Given the description of an element on the screen output the (x, y) to click on. 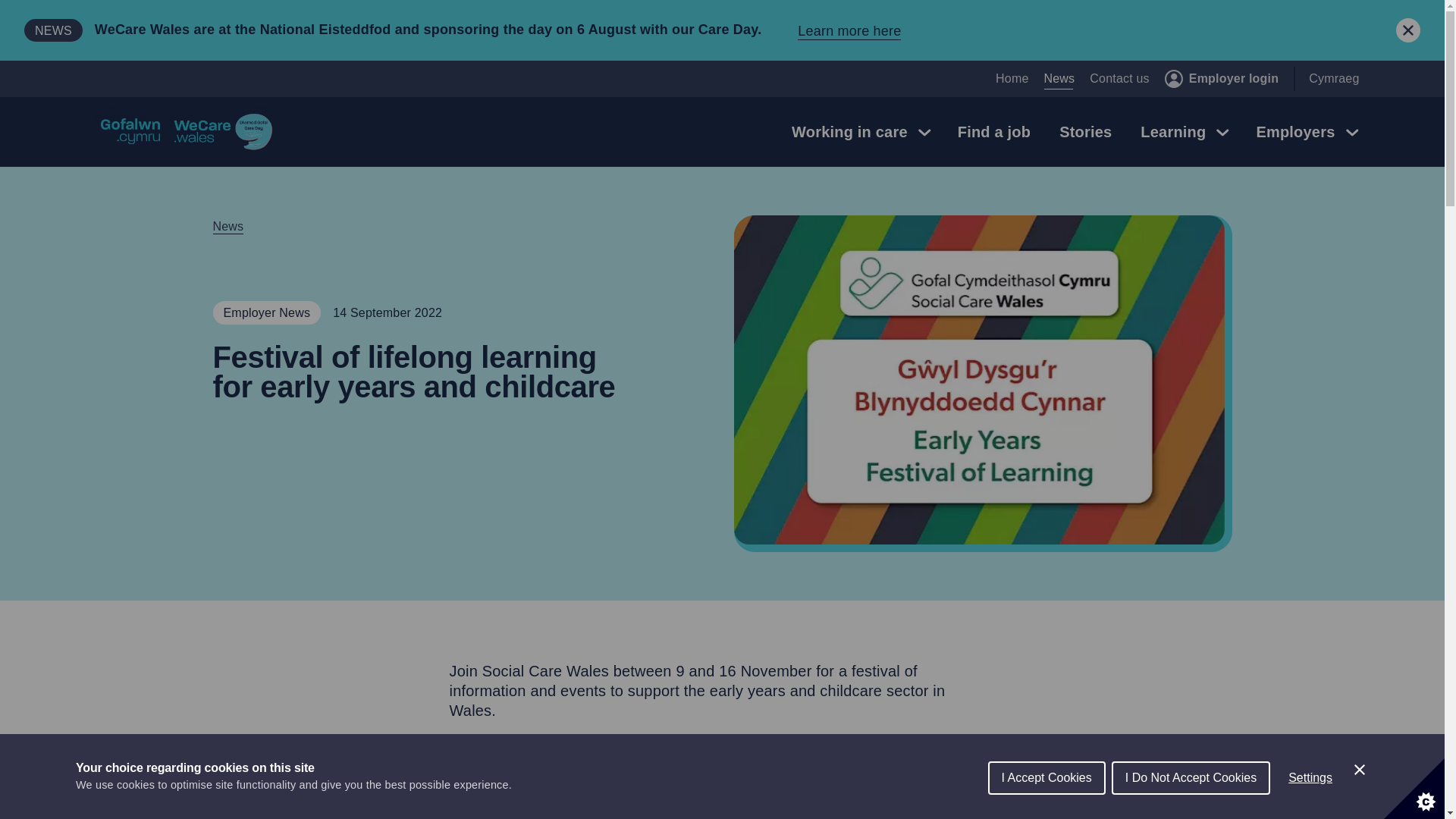
Stories (1085, 131)
Employers (1305, 132)
Find a job (993, 131)
Home (1011, 78)
Cymraeg (1333, 78)
Working in care (859, 132)
Go to the homepage (185, 132)
Learning (1183, 132)
Contact us (1118, 78)
Home (1011, 78)
